Given the description of an element on the screen output the (x, y) to click on. 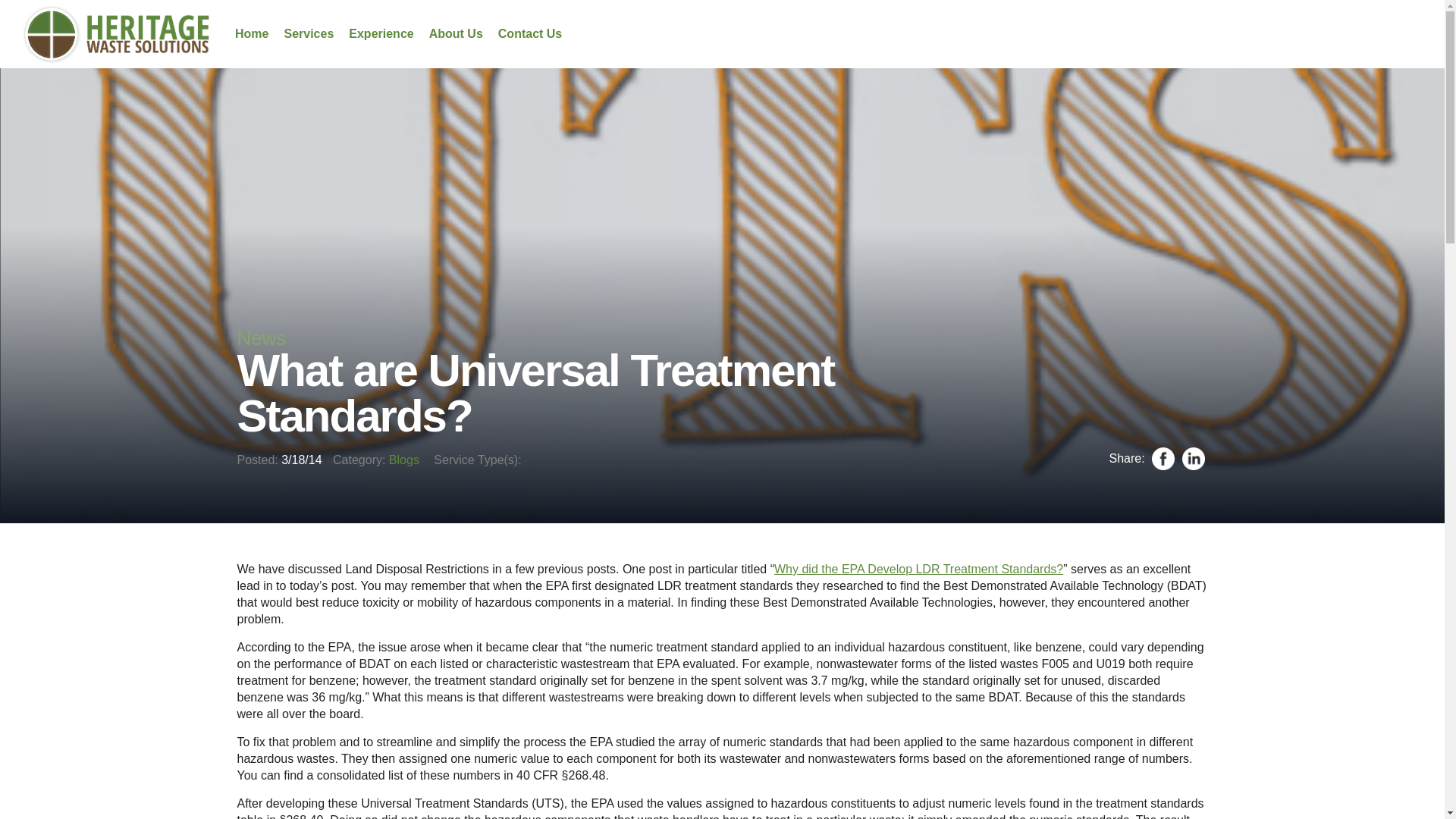
Contact Us (529, 33)
Why did the EPA Develop LDR Treatment Standards? (918, 568)
Why did the EPA Develop LDR Treatment Standards? (918, 568)
Home (250, 33)
About Us (456, 33)
Experience (381, 33)
Blogs (403, 460)
Services (308, 33)
